Given the description of an element on the screen output the (x, y) to click on. 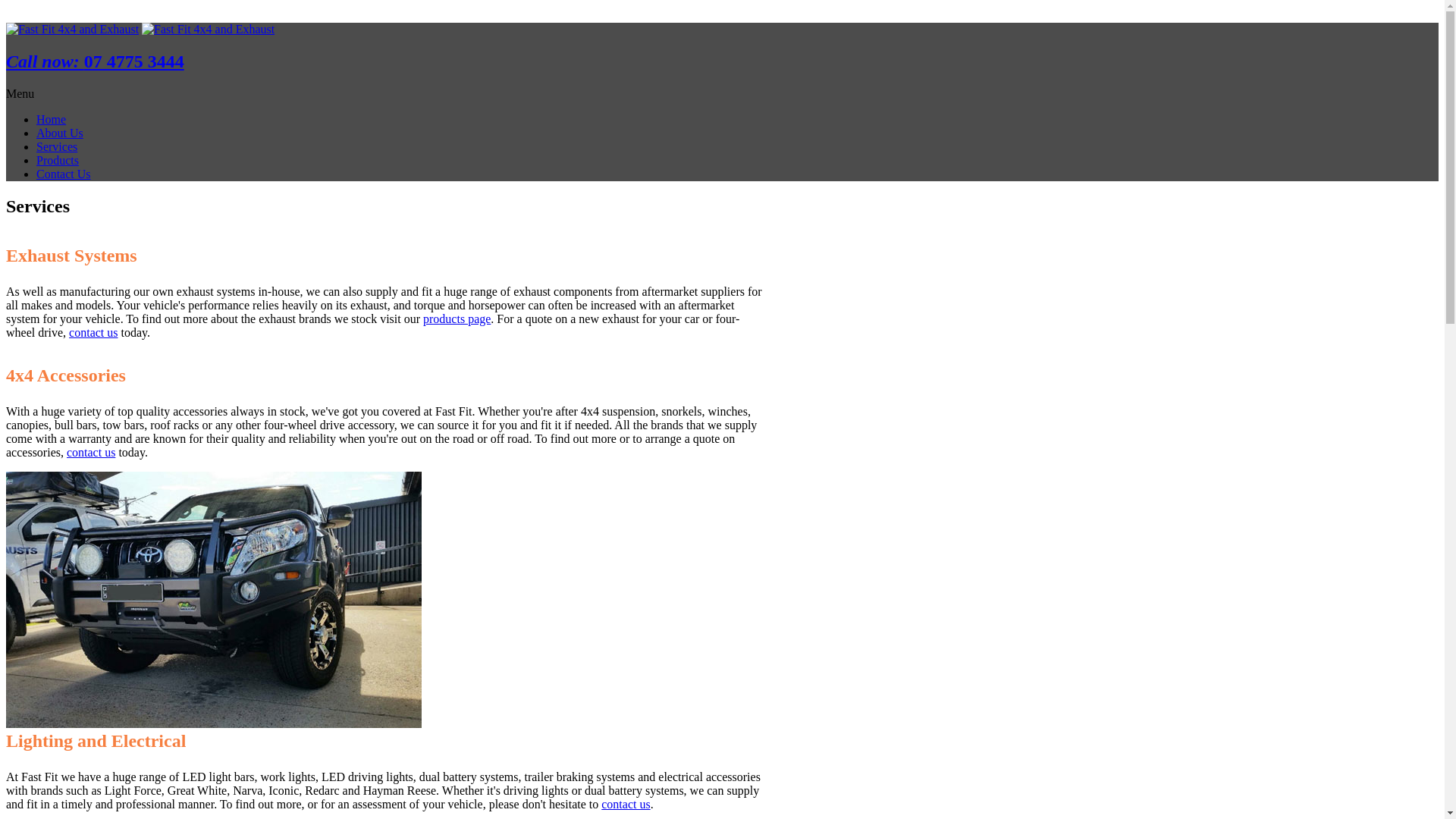
Menu Element type: text (20, 93)
About Us Element type: text (59, 132)
contact us Element type: text (90, 451)
products page Element type: text (456, 318)
Services Element type: text (56, 146)
Fast Fit 4x4 and Exhaust Element type: hover (207, 28)
Contact Us Element type: text (63, 173)
Home Element type: text (50, 118)
contact us Element type: text (625, 803)
contact us Element type: text (93, 332)
Fast Fit 4x4 and Exhaust Element type: hover (72, 28)
Products Element type: text (57, 159)
Call now: 07 4775 3444 Element type: text (95, 61)
